Given the description of an element on the screen output the (x, y) to click on. 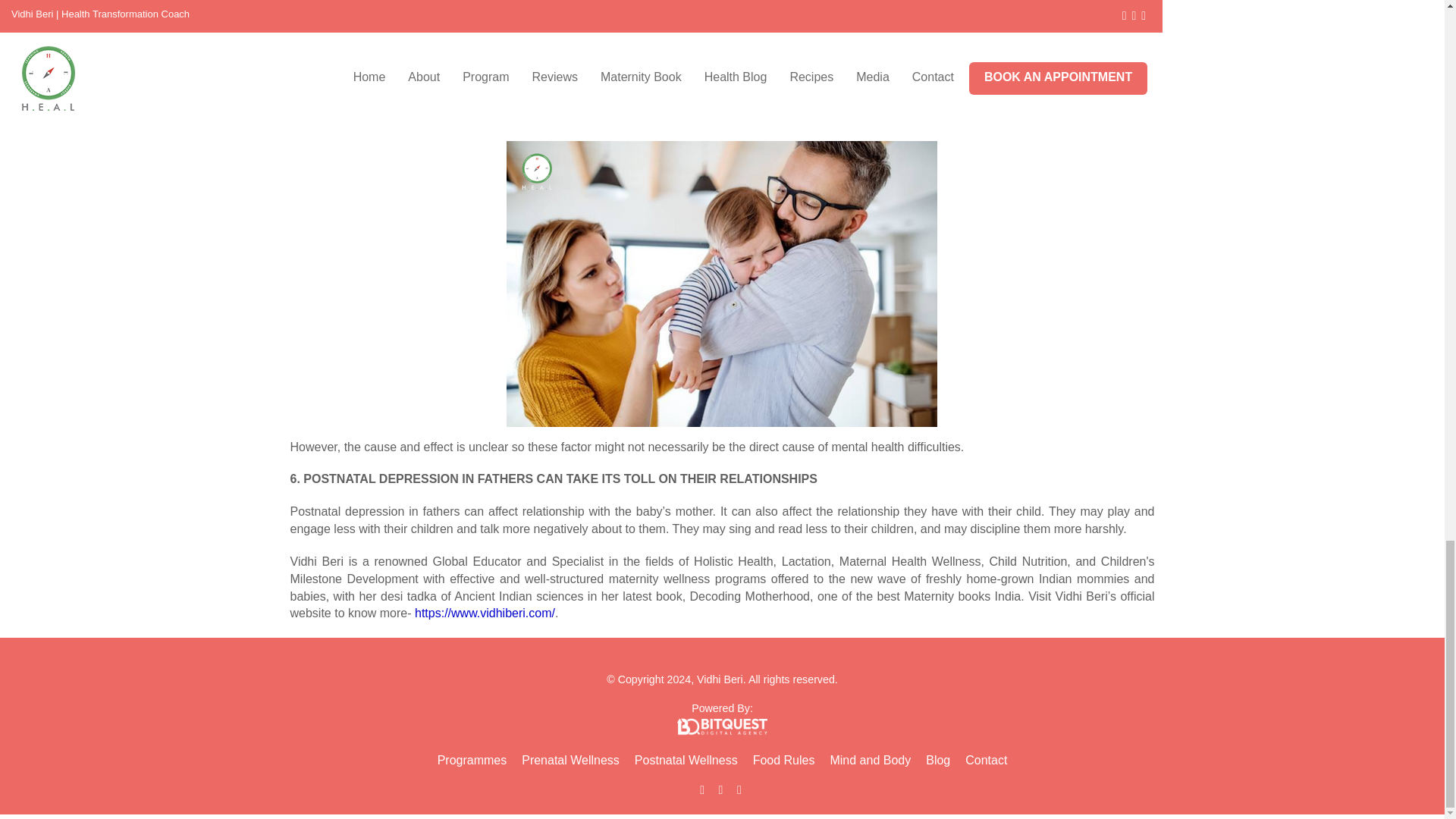
Mind and Body (870, 759)
Postnatal Wellness (686, 759)
Prenatal Wellness (570, 759)
Prenatal Wellness (570, 759)
Postnatal Wellness (686, 759)
Programmes (472, 759)
Mind and Body (870, 759)
Programmes (472, 759)
Blog (938, 759)
Food Rules (783, 759)
